Given the description of an element on the screen output the (x, y) to click on. 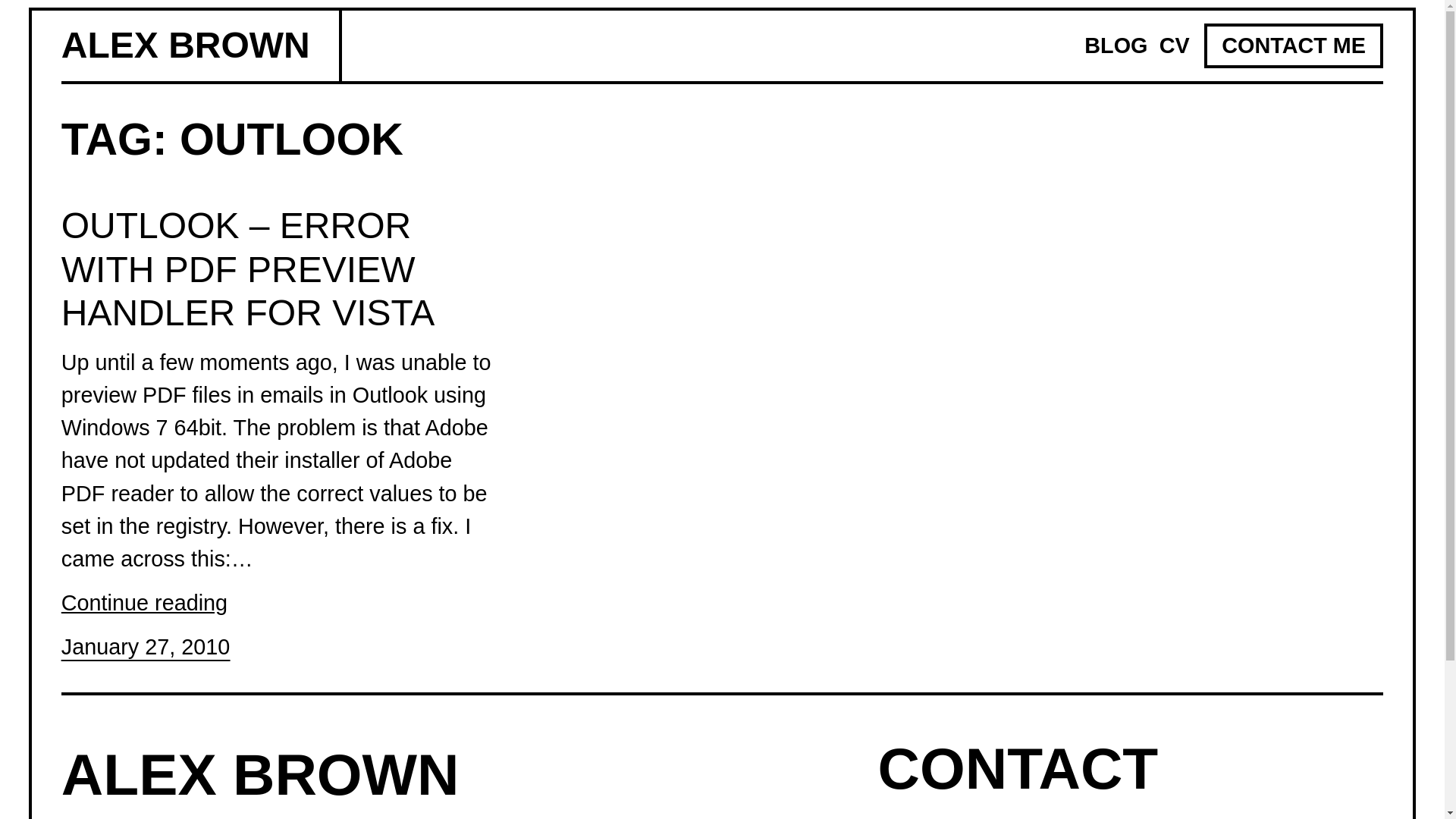
ALEX BROWN (185, 45)
Continue reading (144, 603)
CONTACT ME (1293, 45)
BLOG (1115, 45)
January 27, 2010 (145, 646)
ALEX BROWN (260, 774)
CV (1173, 45)
